Given the description of an element on the screen output the (x, y) to click on. 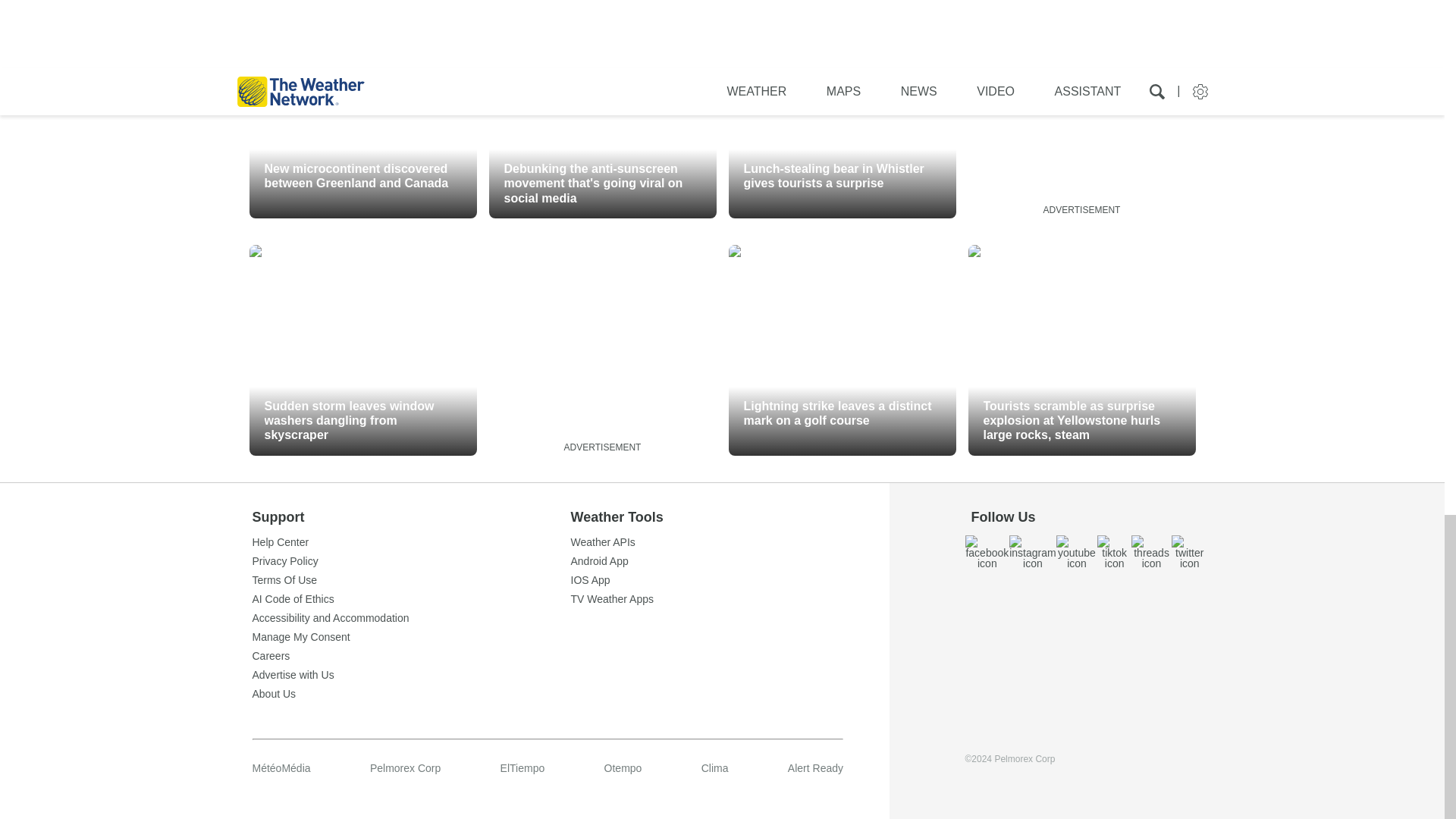
Clima (715, 767)
ElTiempo (522, 767)
Weather APIs (729, 542)
TV Weather Apps (729, 598)
Careers (410, 655)
AI Code of Ethics (410, 598)
Lunch-stealing bear in Whistler gives tourists a surprise (841, 112)
Pelmorex Corp (405, 767)
Android App (729, 561)
Manage My Consent (410, 636)
Help Center (410, 542)
Advertise with Us (410, 674)
Lightning strike leaves a distinct mark on a golf course (841, 349)
